Given the description of an element on the screen output the (x, y) to click on. 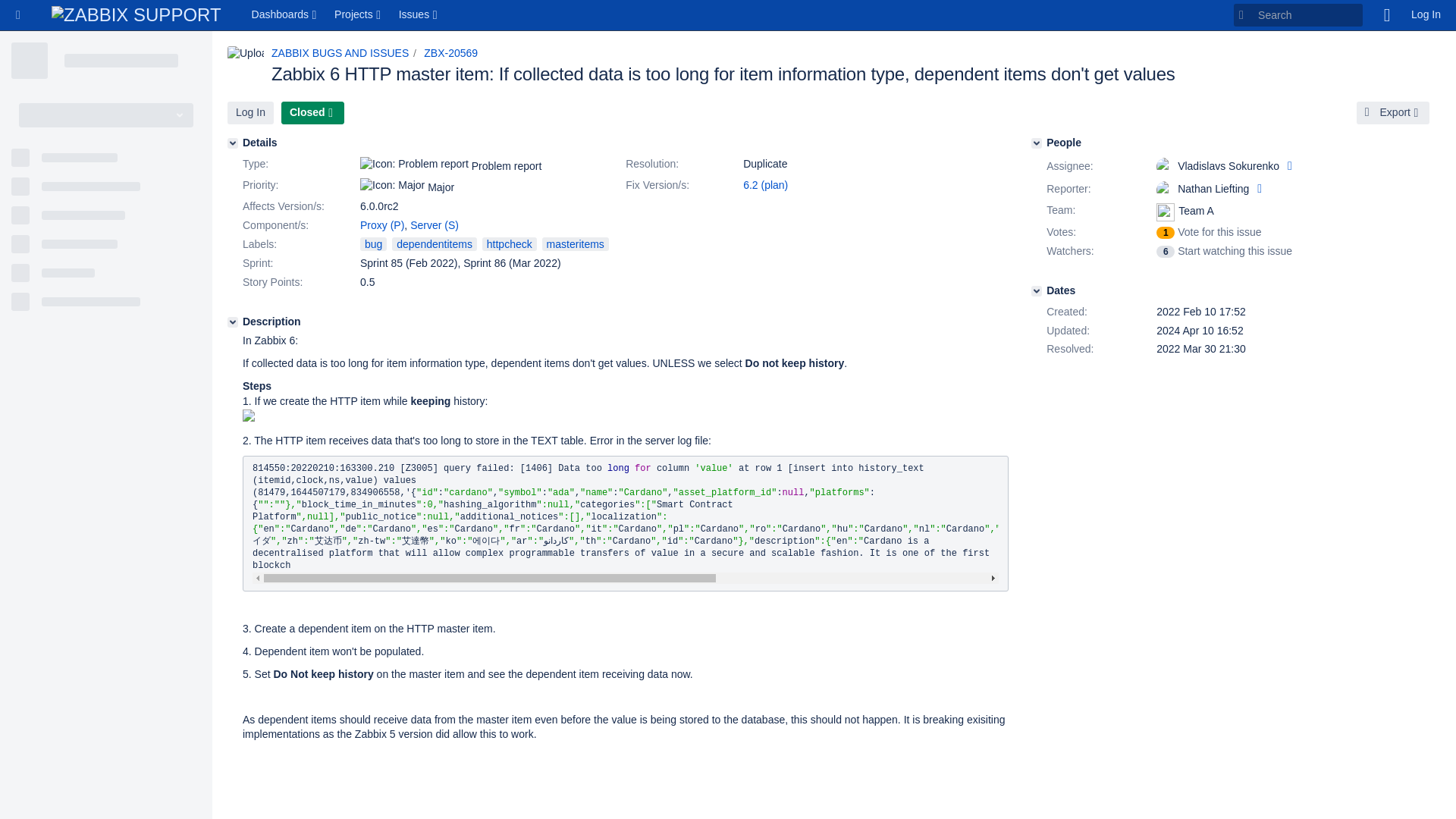
Search for issues and view recent issues (418, 15)
httpcheck (509, 243)
Search (1297, 15)
Log In (250, 112)
dependentitems (434, 243)
Type (299, 164)
Log In (1425, 15)
Dashboards (285, 15)
Major - Major loss of function. (392, 185)
Projects (358, 15)
Closed (312, 112)
masteritems (574, 243)
View and manage your dashboards (285, 15)
Help (1386, 15)
Log In (250, 112)
